Given the description of an element on the screen output the (x, y) to click on. 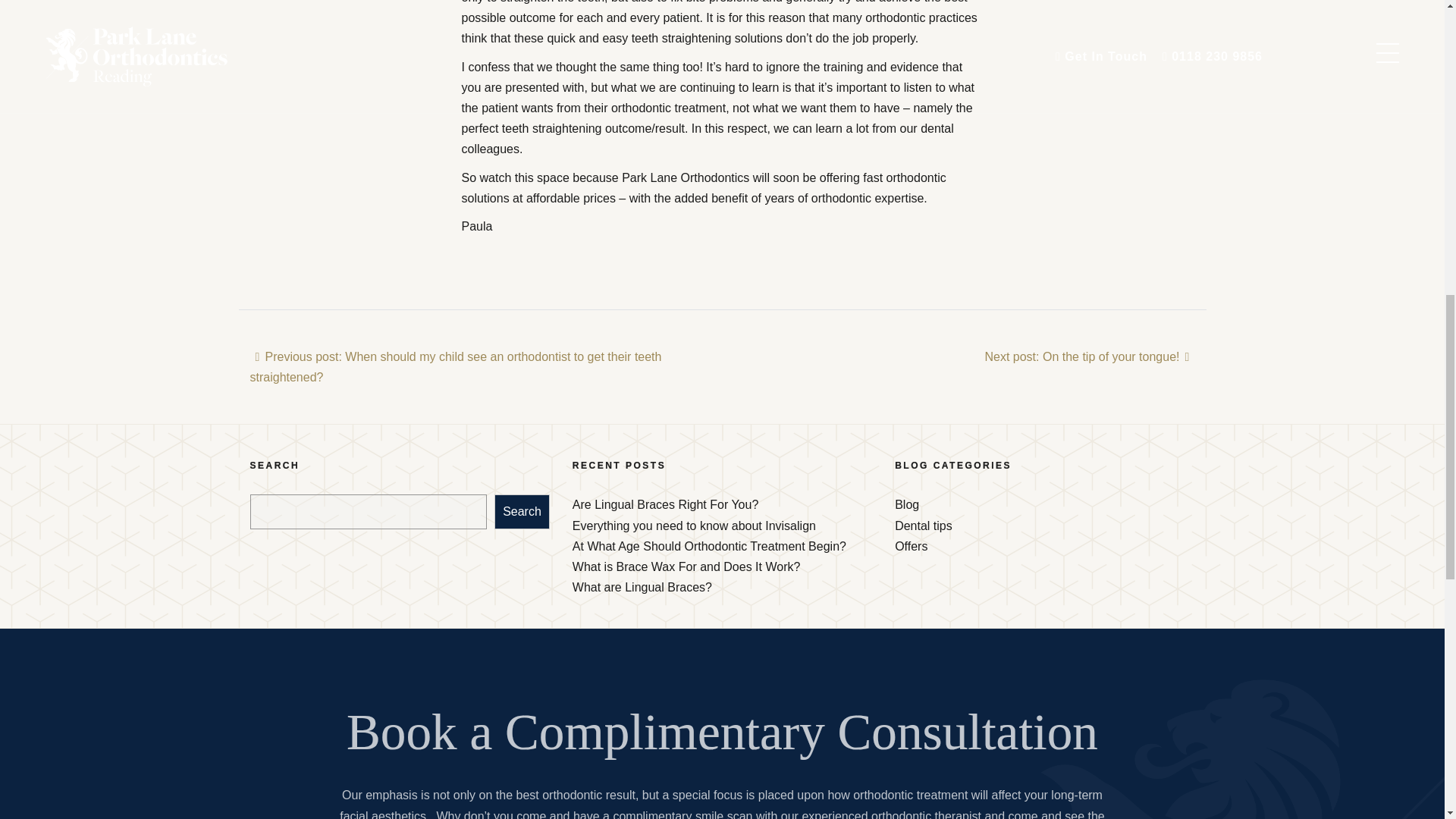
Dental tips (923, 525)
What is Brace Wax For and Does It Work? (686, 566)
What are Lingual Braces? (641, 586)
Offers (911, 545)
Next post: On the tip of your tongue! (1088, 356)
Are Lingual Braces Right For You? (665, 504)
Everything you need to know about Invisalign (693, 525)
Search (522, 511)
Blog (906, 504)
At What Age Should Orthodontic Treatment Begin? (708, 545)
